Given the description of an element on the screen output the (x, y) to click on. 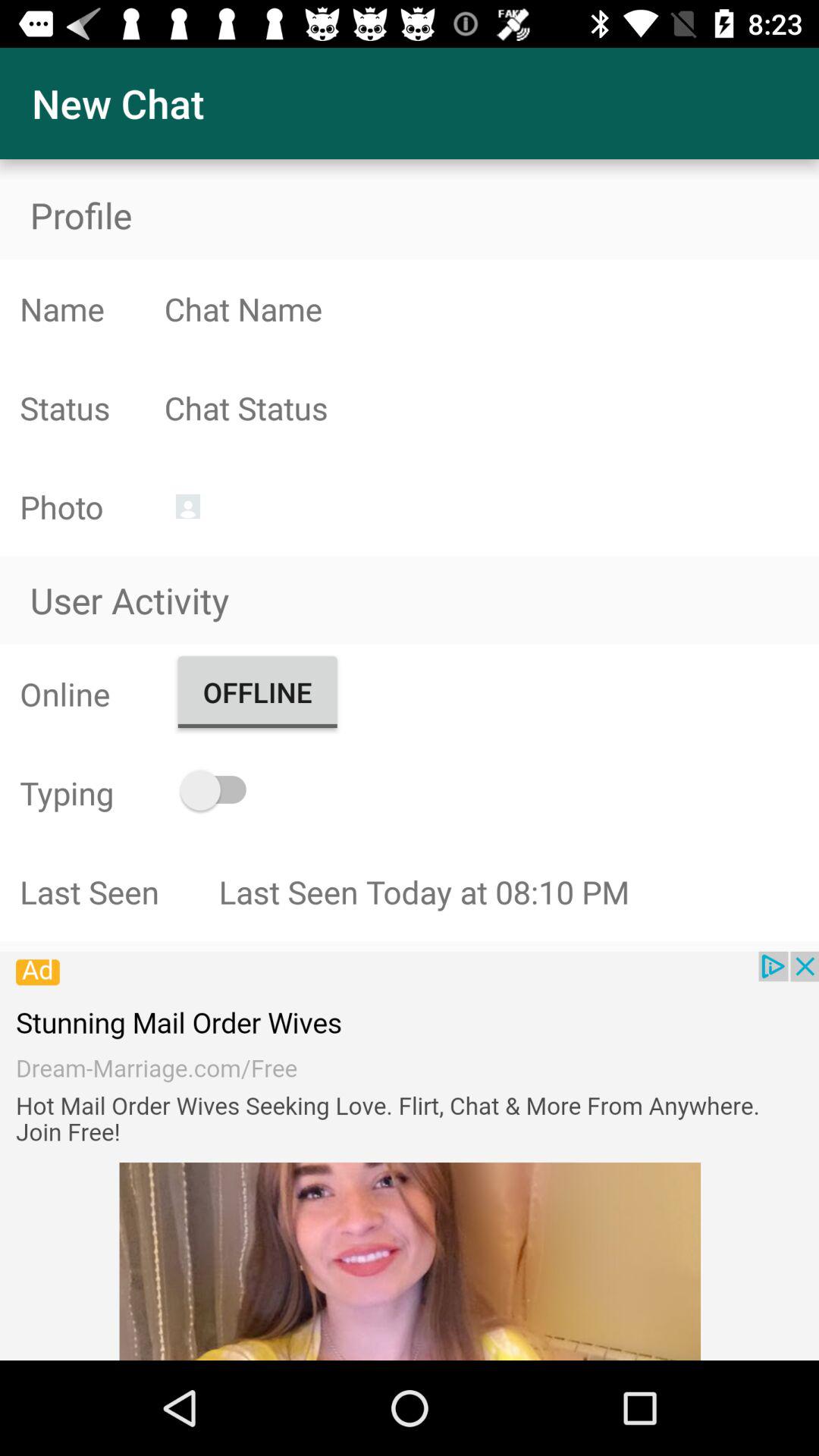
typing option (220, 789)
